Given the description of an element on the screen output the (x, y) to click on. 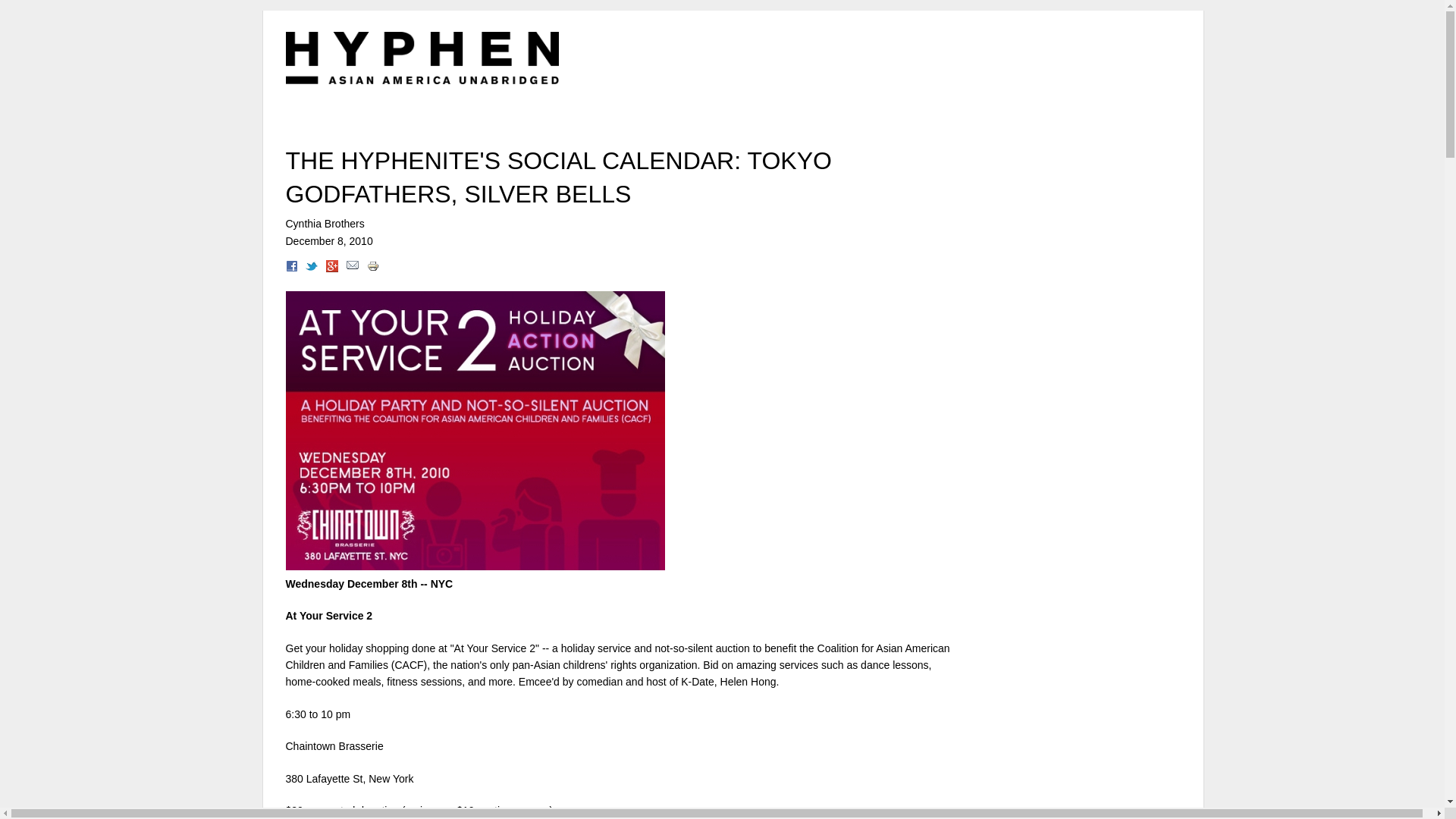
Hyphen (421, 57)
Coalition for Asian American Children and Families (617, 656)
Helen Hong (748, 681)
Share on Facebook (291, 268)
Printable version (372, 268)
Share this on Twitter (311, 268)
Send to a friend (352, 268)
Cynthia Brothers (324, 223)
